Given the description of an element on the screen output the (x, y) to click on. 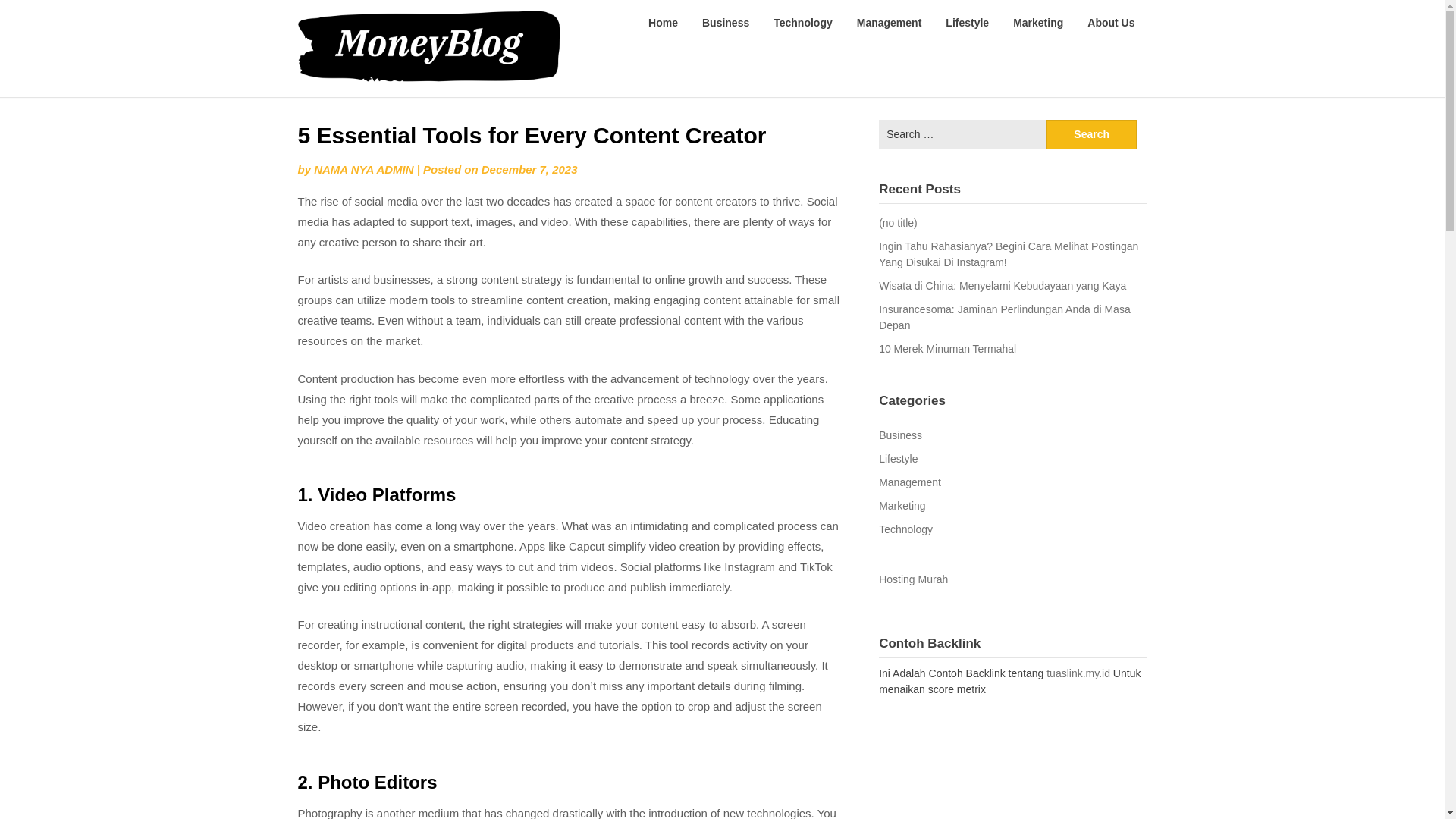
NAMA NYA ADMIN (363, 169)
Search (1091, 134)
Technology (802, 22)
Business (725, 22)
10 Merek Minuman Termahal (947, 348)
Lifestyle (898, 458)
Management (909, 481)
Home (663, 22)
About Us (1111, 22)
angmokio.my.id (631, 21)
